Given the description of an element on the screen output the (x, y) to click on. 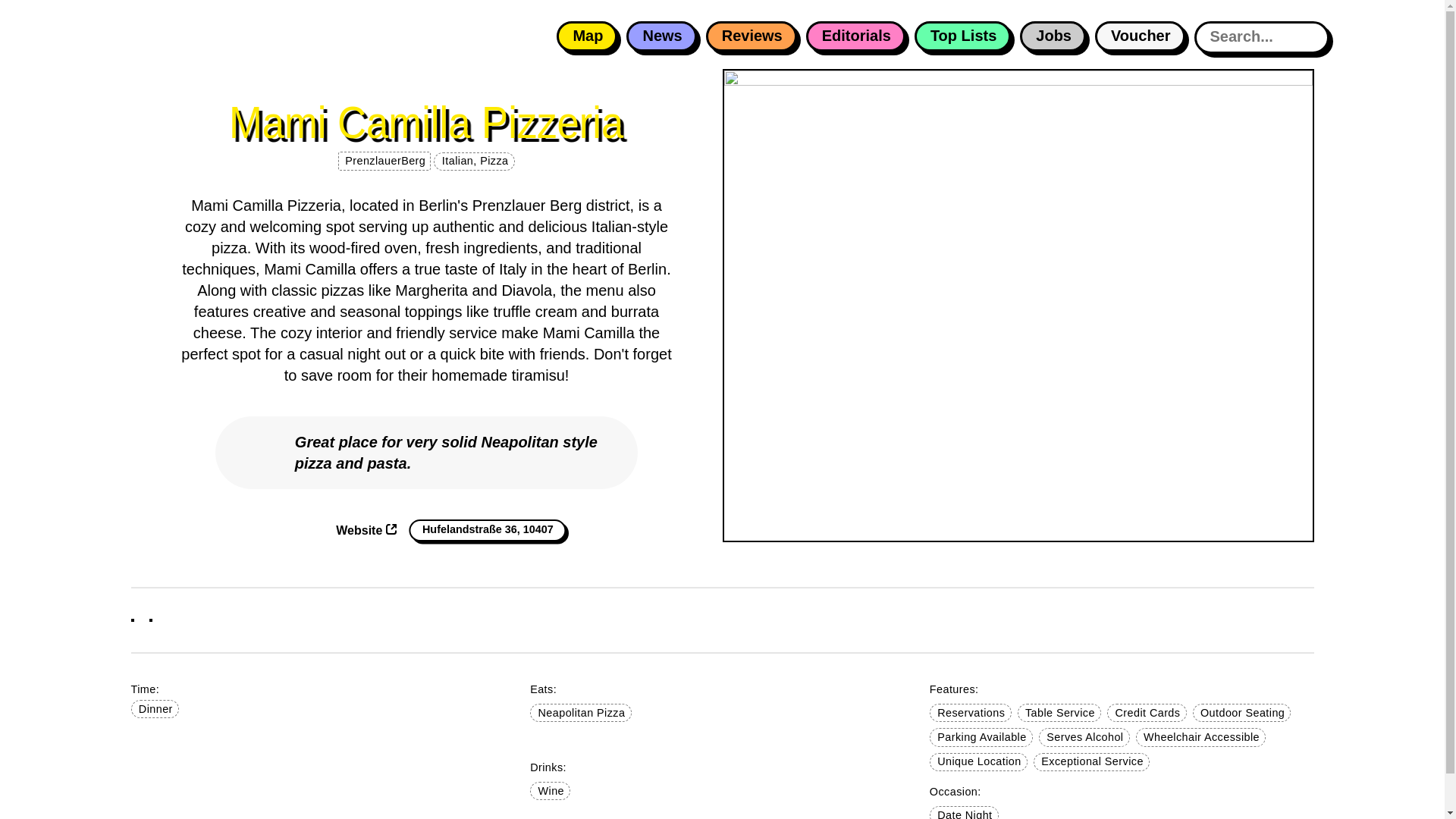
News (660, 36)
Jobs (1053, 36)
Website (366, 530)
Voucher (1139, 36)
Editorials (855, 36)
Reviews (751, 36)
Top Lists (962, 36)
Map (586, 36)
